Given the description of an element on the screen output the (x, y) to click on. 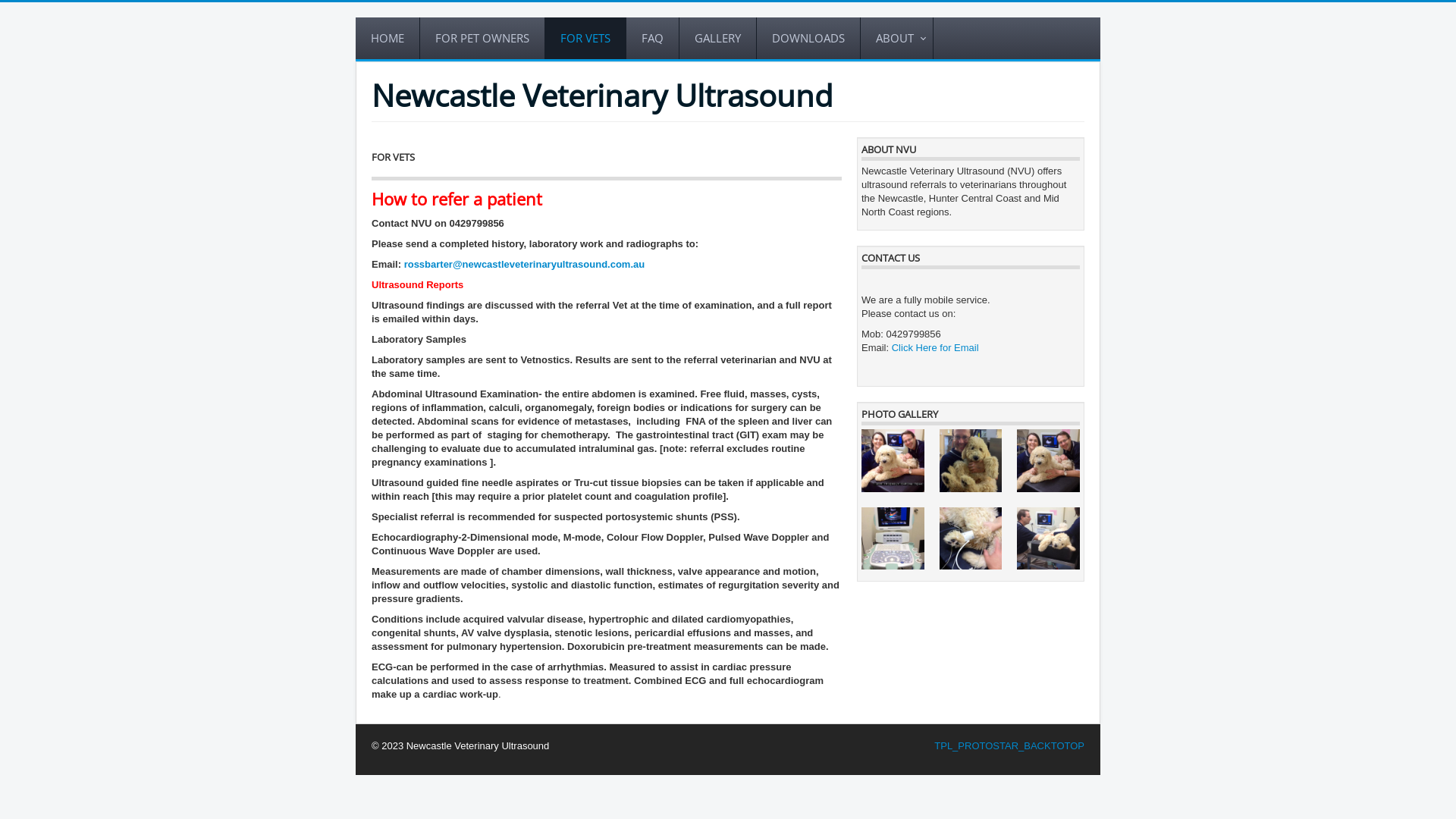
FOR PET OWNERS Element type: text (482, 38)
FOR VETS Element type: text (585, 38)
Newcastle Veterinary Ultrasound Element type: text (601, 95)
ABOUT Element type: text (896, 38)
Click Here for Email Element type: text (935, 347)
FAQ Element type: text (652, 38)
TPL_PROTOSTAR_BACKTOTOP Element type: text (1009, 745)
Slide2 Element type: hover (970, 538)
Slide3 Element type: hover (892, 538)
Slide6 Element type: hover (892, 460)
HOME Element type: text (387, 38)
rossbarter@newcastleveterinaryultrasound.com.au Element type: text (524, 263)
Slide5 Element type: hover (970, 460)
Slide1 Element type: hover (1047, 538)
GALLERY Element type: text (717, 38)
DOWNLOADS Element type: text (808, 38)
Slide4 Element type: hover (1047, 460)
